Given the description of an element on the screen output the (x, y) to click on. 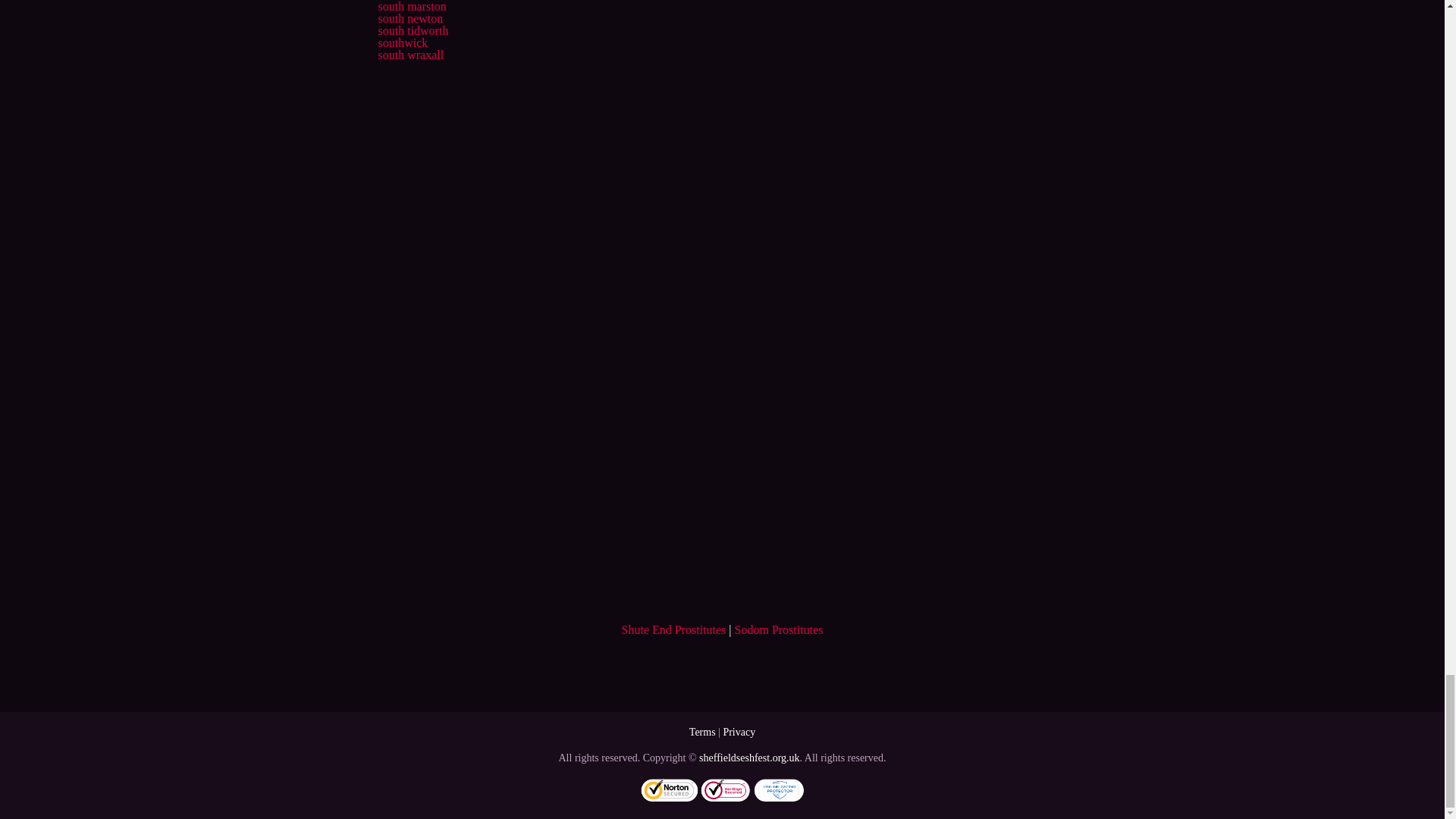
Terms (702, 731)
Sodom Prostitutes (779, 629)
south marston (411, 6)
south tidworth (412, 30)
southend (399, 0)
Terms (702, 731)
Privacy (738, 731)
southwick (402, 42)
Privacy (738, 731)
Shute End Prostitutes (673, 629)
